Given the description of an element on the screen output the (x, y) to click on. 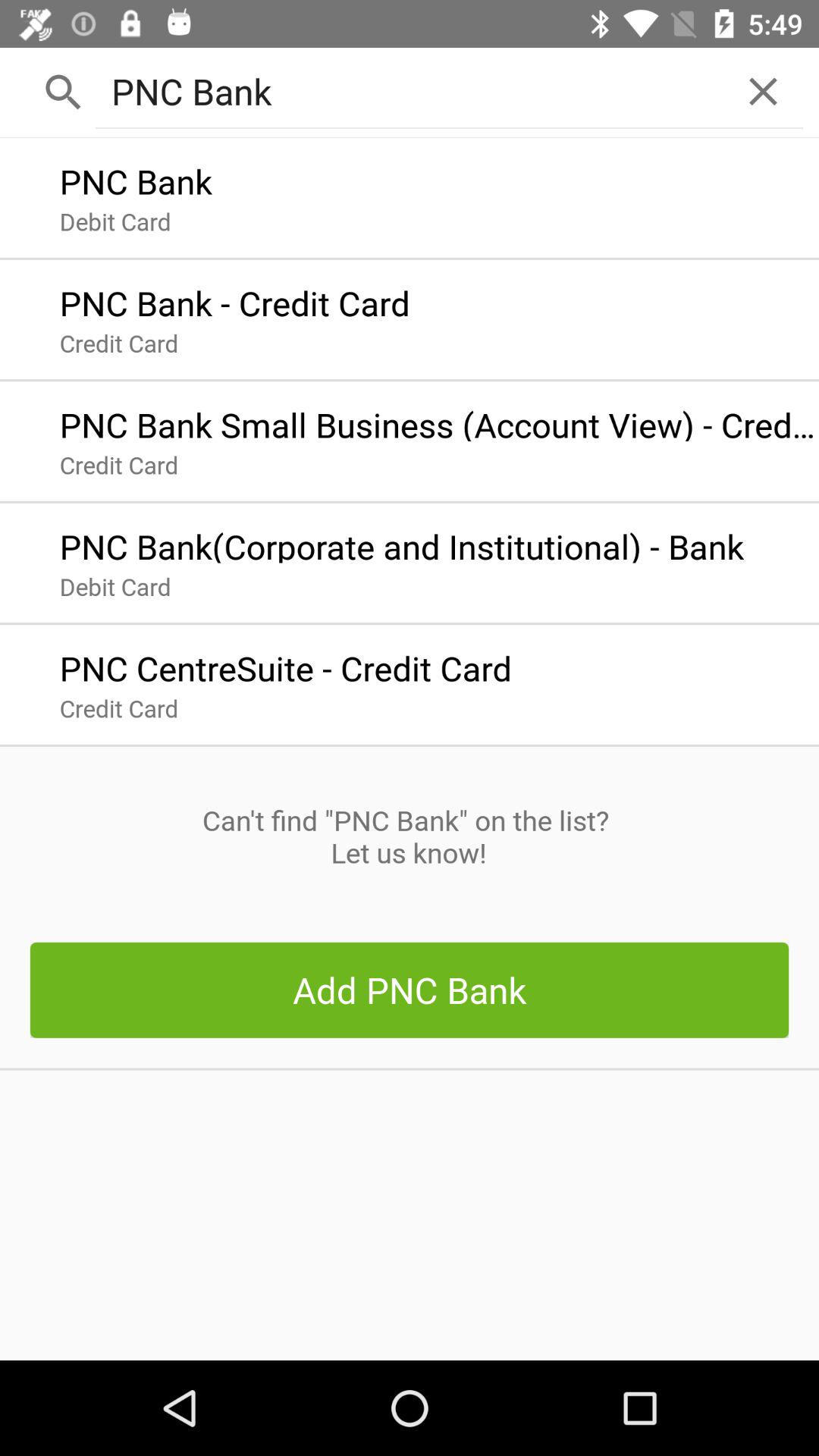
click icon below credit card item (408, 836)
